Given the description of an element on the screen output the (x, y) to click on. 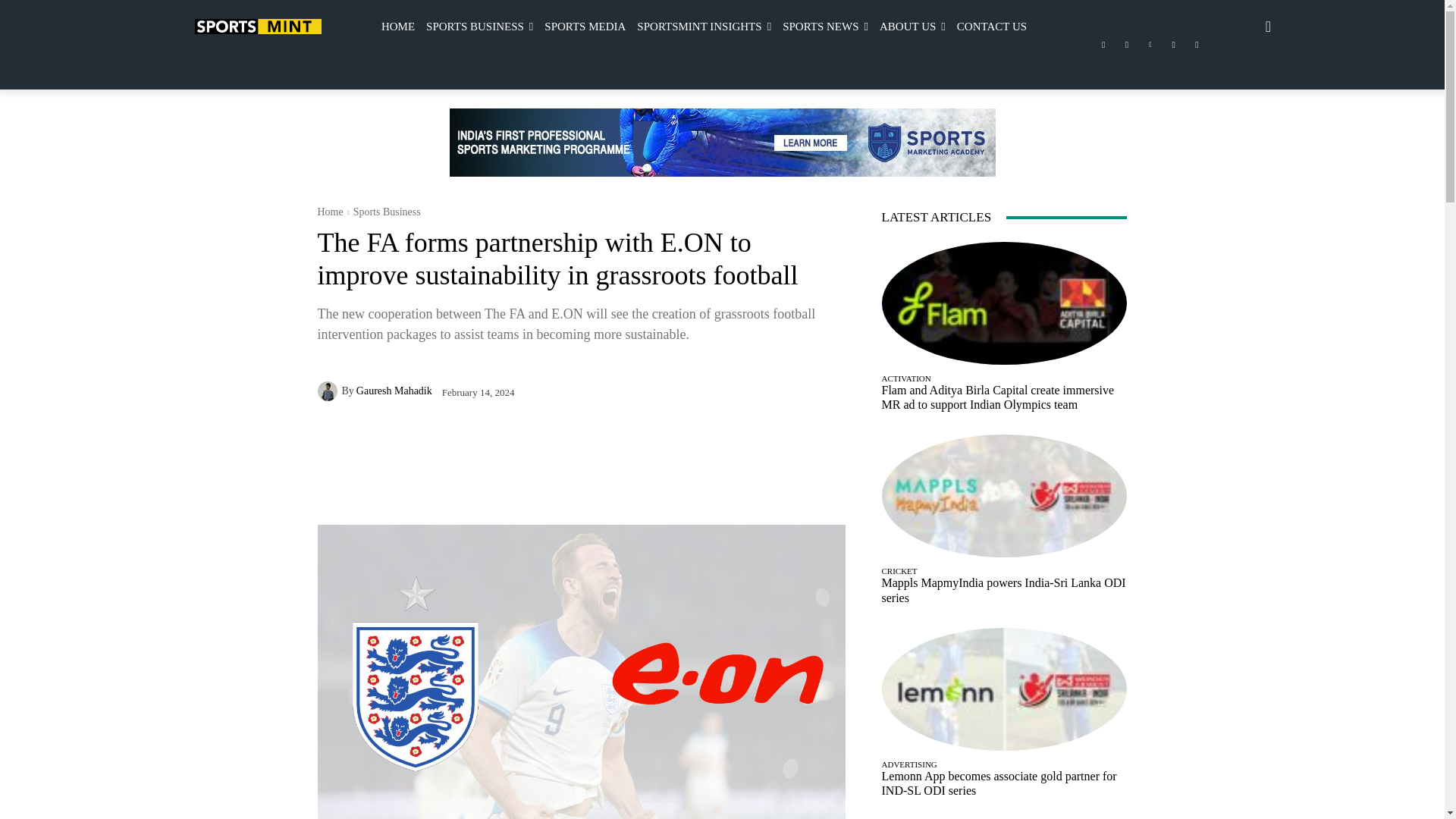
Facebook (1103, 45)
Linkedin (1149, 45)
SportsMint Media (256, 25)
Twitter (1173, 45)
Instagram (1126, 45)
